Given the description of an element on the screen output the (x, y) to click on. 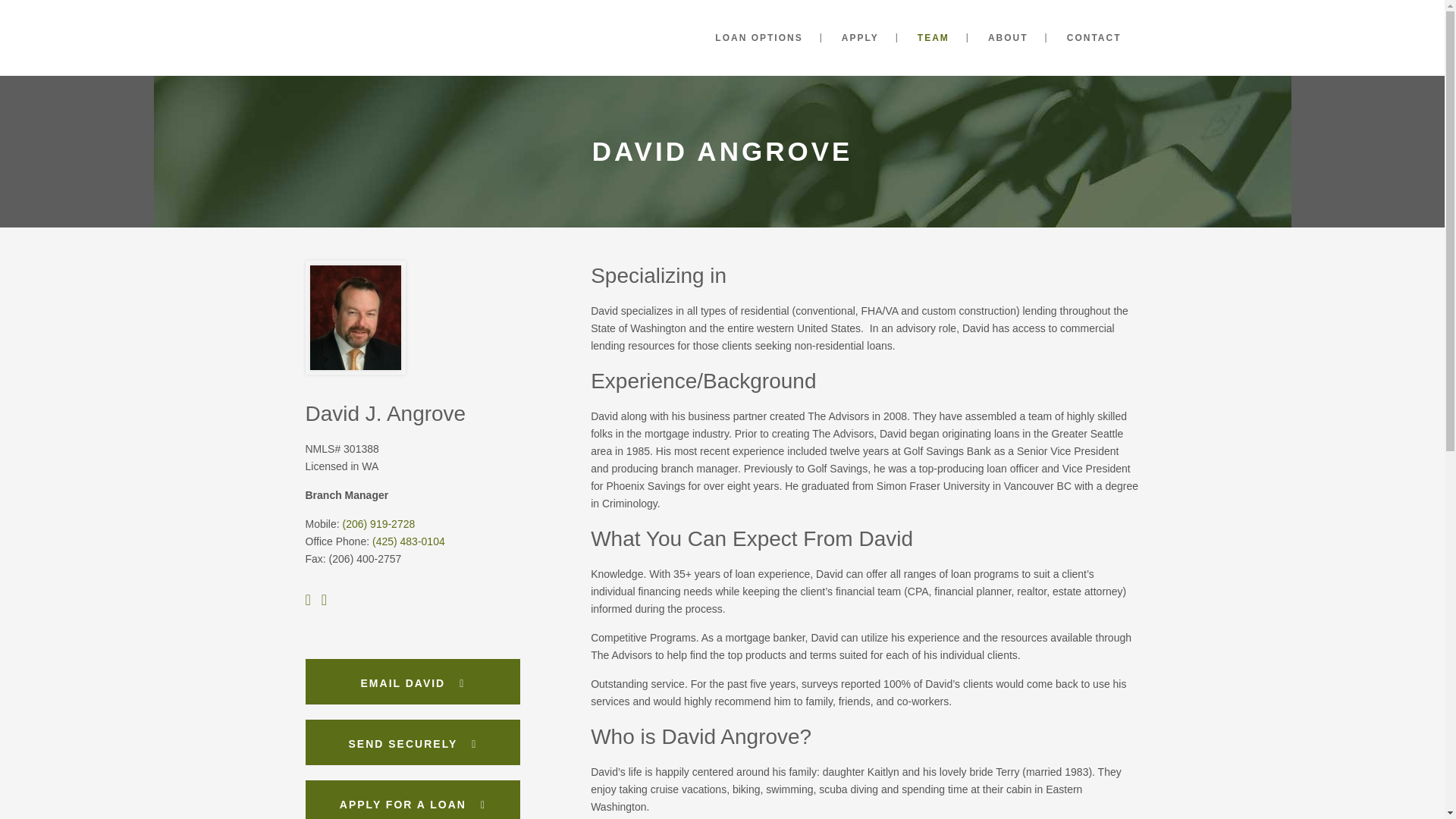
TEAM (933, 38)
APPLY (860, 38)
CONTACT (1094, 38)
ABOUT (1007, 38)
LOAN OPTIONS (759, 38)
